Given the description of an element on the screen output the (x, y) to click on. 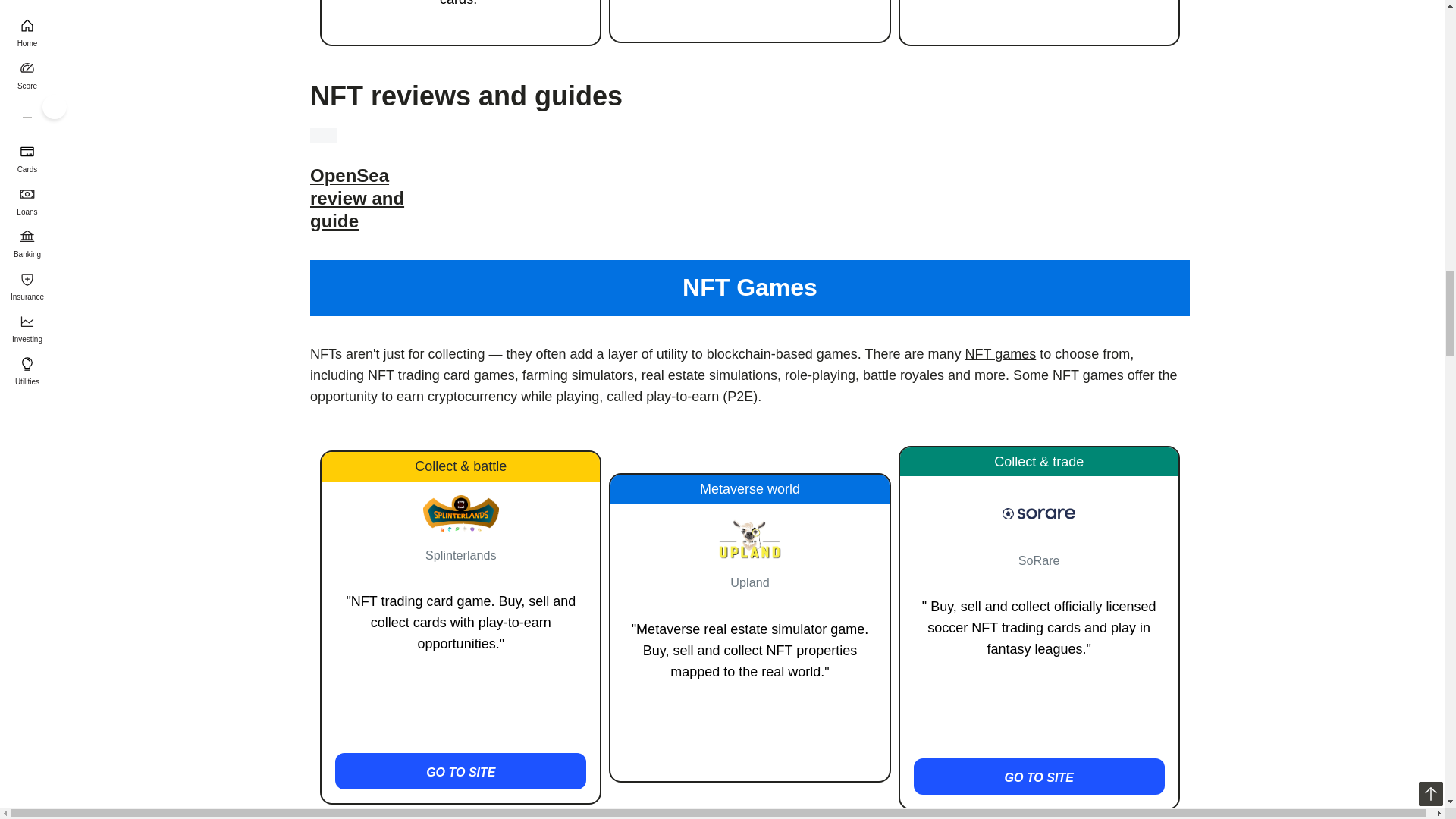
Go to Splinterlands (460, 770)
Go to SoRare (1039, 513)
Go to SoRare (1039, 776)
Go to Splinterlands (461, 513)
